Given the description of an element on the screen output the (x, y) to click on. 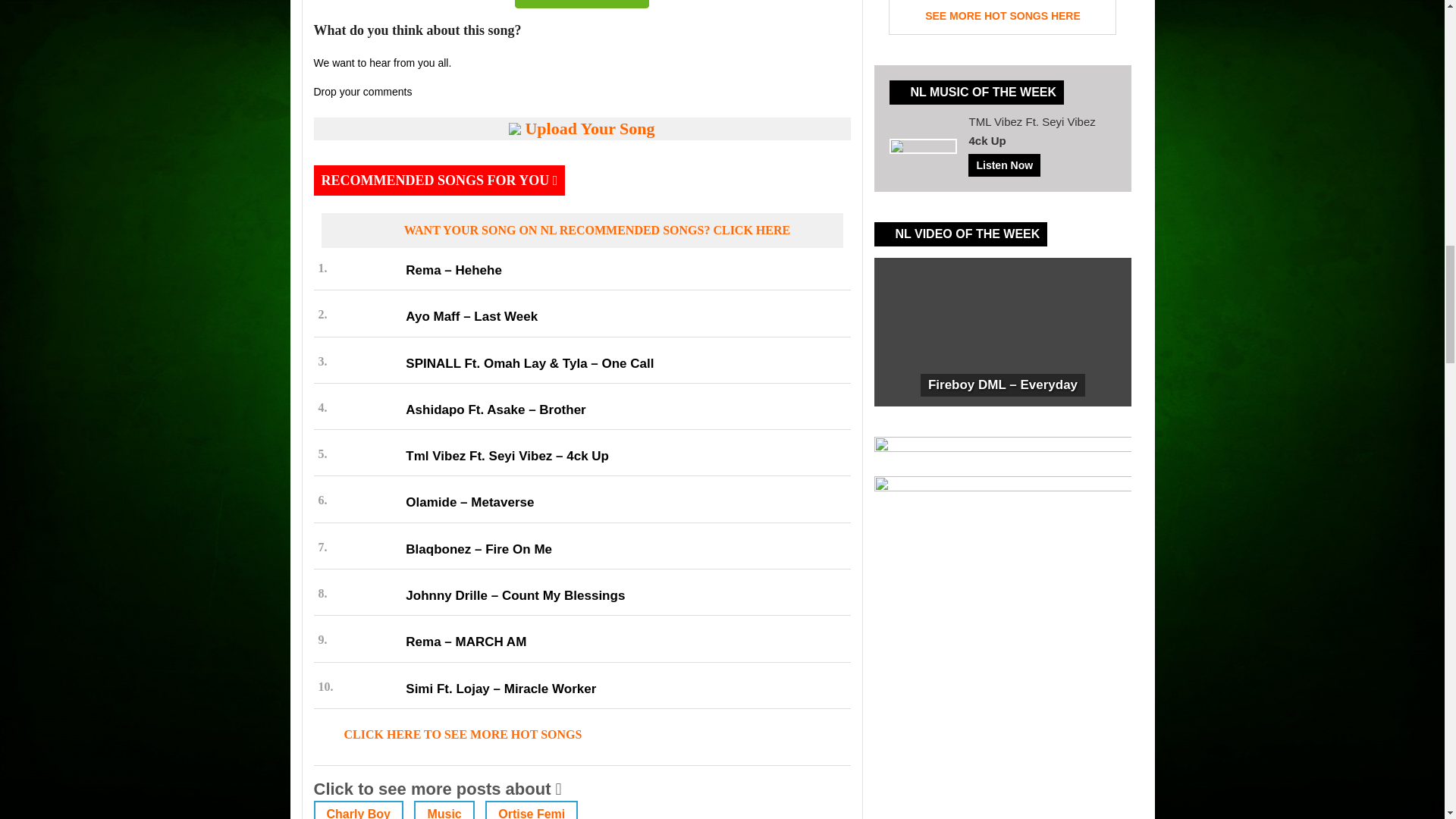
Upload Your Song (582, 128)
DOWNLOAD MP3 (582, 4)
WANT YOUR SONG ON NL RECOMMENDED SONGS? CLICK HERE (582, 230)
